Given the description of an element on the screen output the (x, y) to click on. 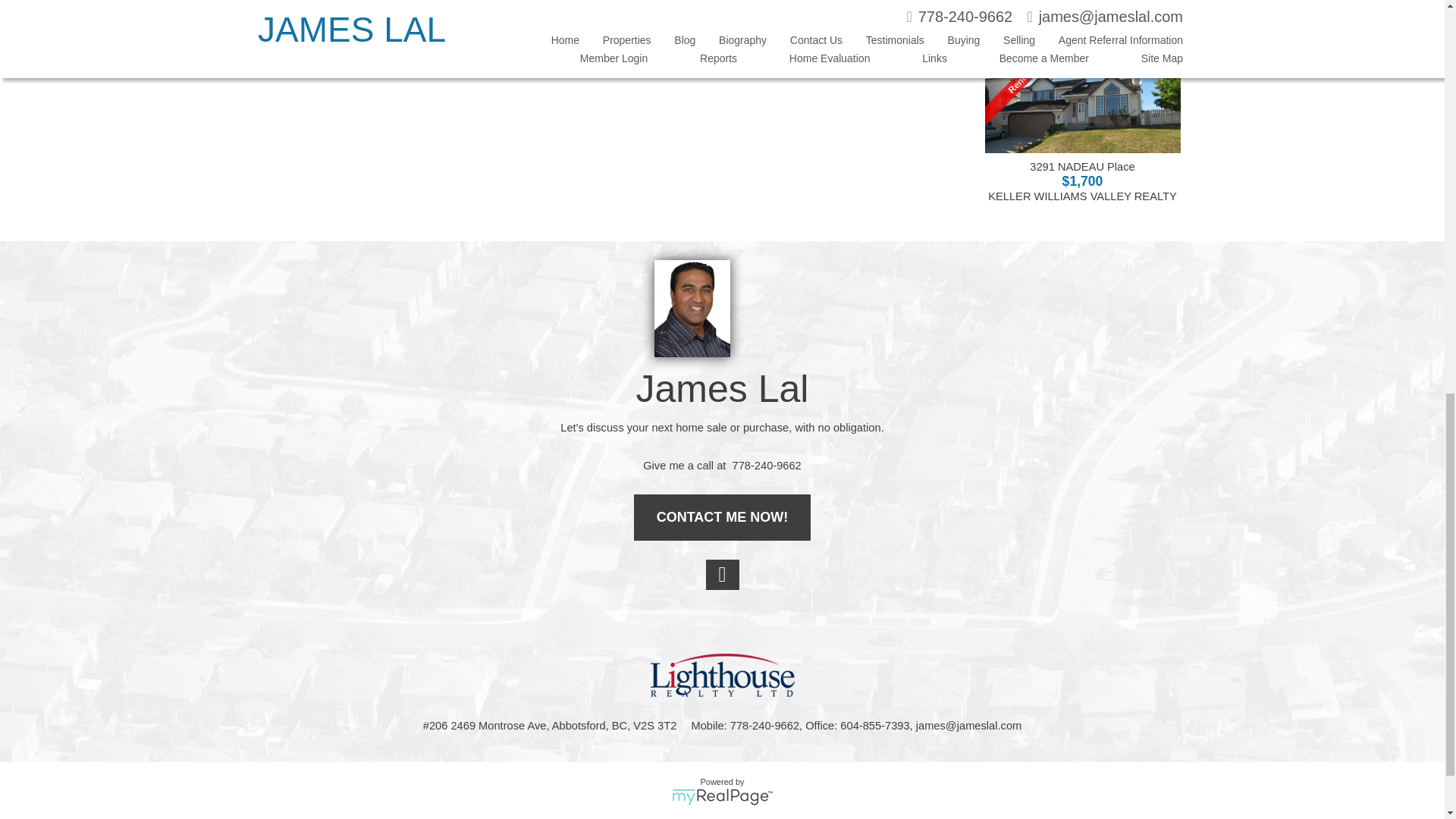
myRealPage.com (722, 796)
CONTACT ME NOW! (721, 517)
